Given the description of an element on the screen output the (x, y) to click on. 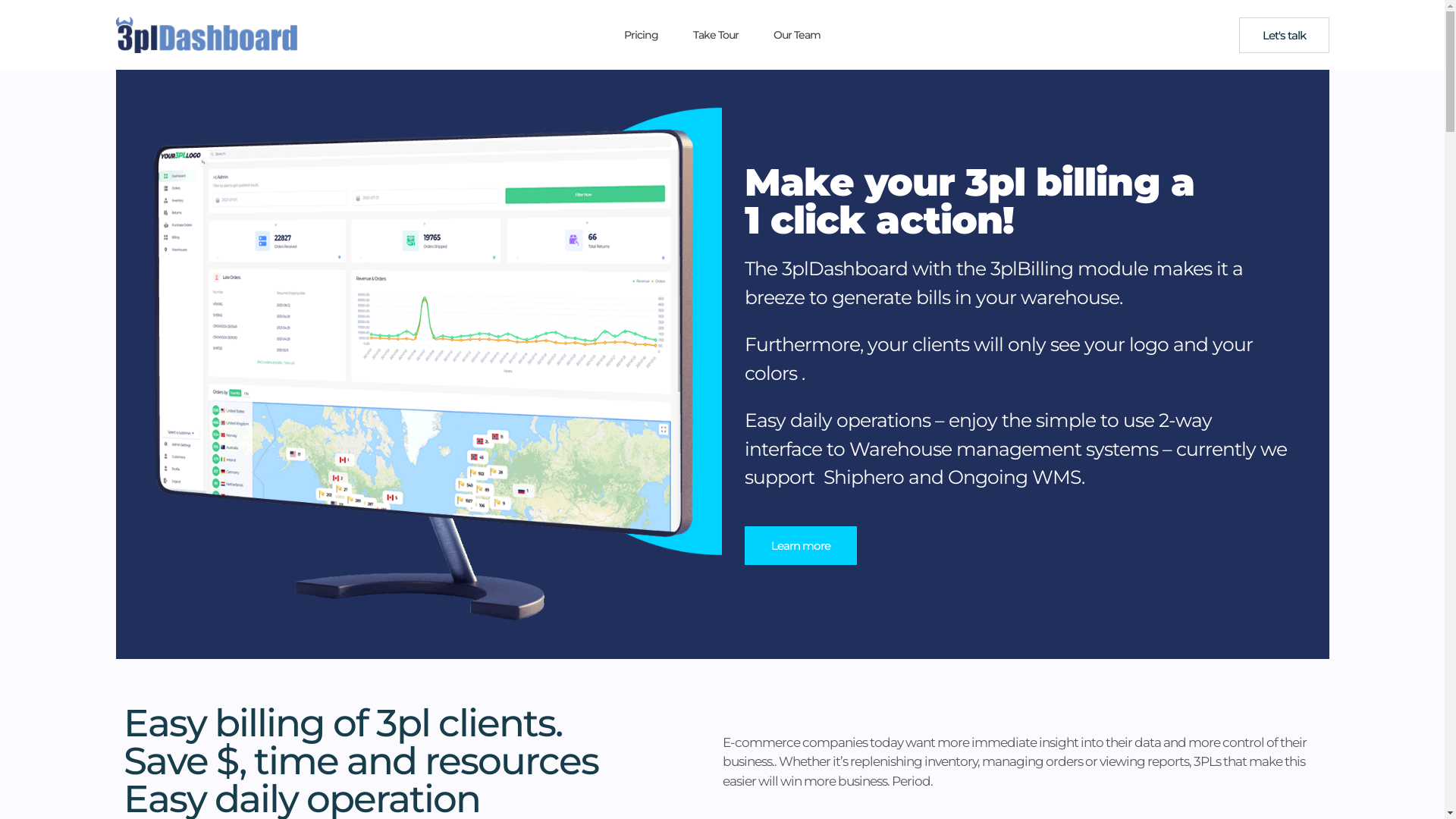
Our Team Element type: text (796, 34)
Pricing Element type: text (640, 34)
Let's talk Element type: text (1284, 34)
Take Tour Element type: text (715, 34)
Learn more Element type: text (800, 545)
